Given the description of an element on the screen output the (x, y) to click on. 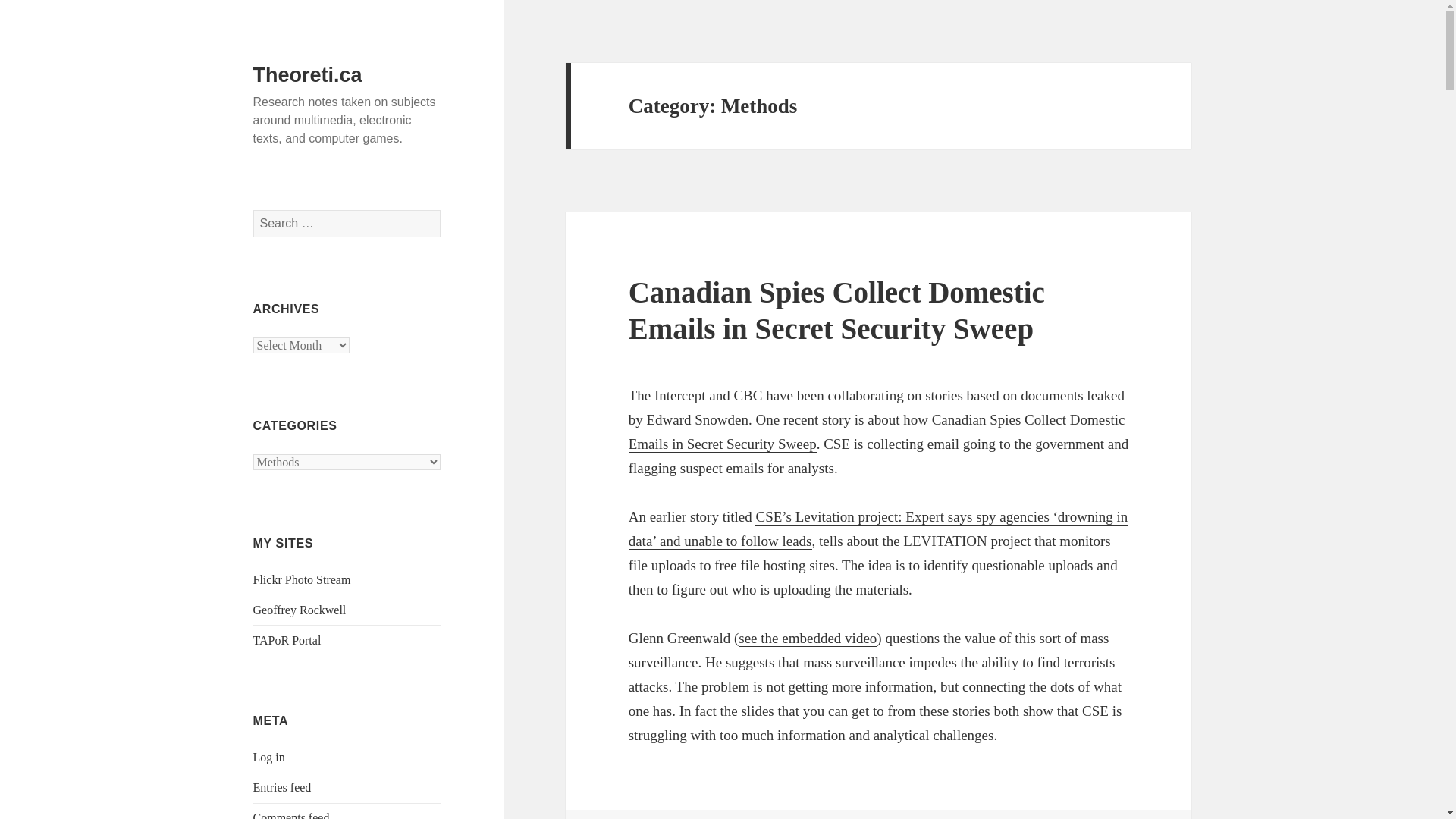
Entries feed (282, 787)
Text analysis portal to tools (287, 640)
Flickr Photo Stream (301, 579)
Geoffrey Rockwell (299, 609)
TAPoR Portal (287, 640)
Theoreti.ca (307, 74)
My web site. (299, 609)
Photos by Geoffrey Rockwell (301, 579)
see the embedded video (807, 638)
Log in (269, 757)
Comments feed (291, 815)
